Given the description of an element on the screen output the (x, y) to click on. 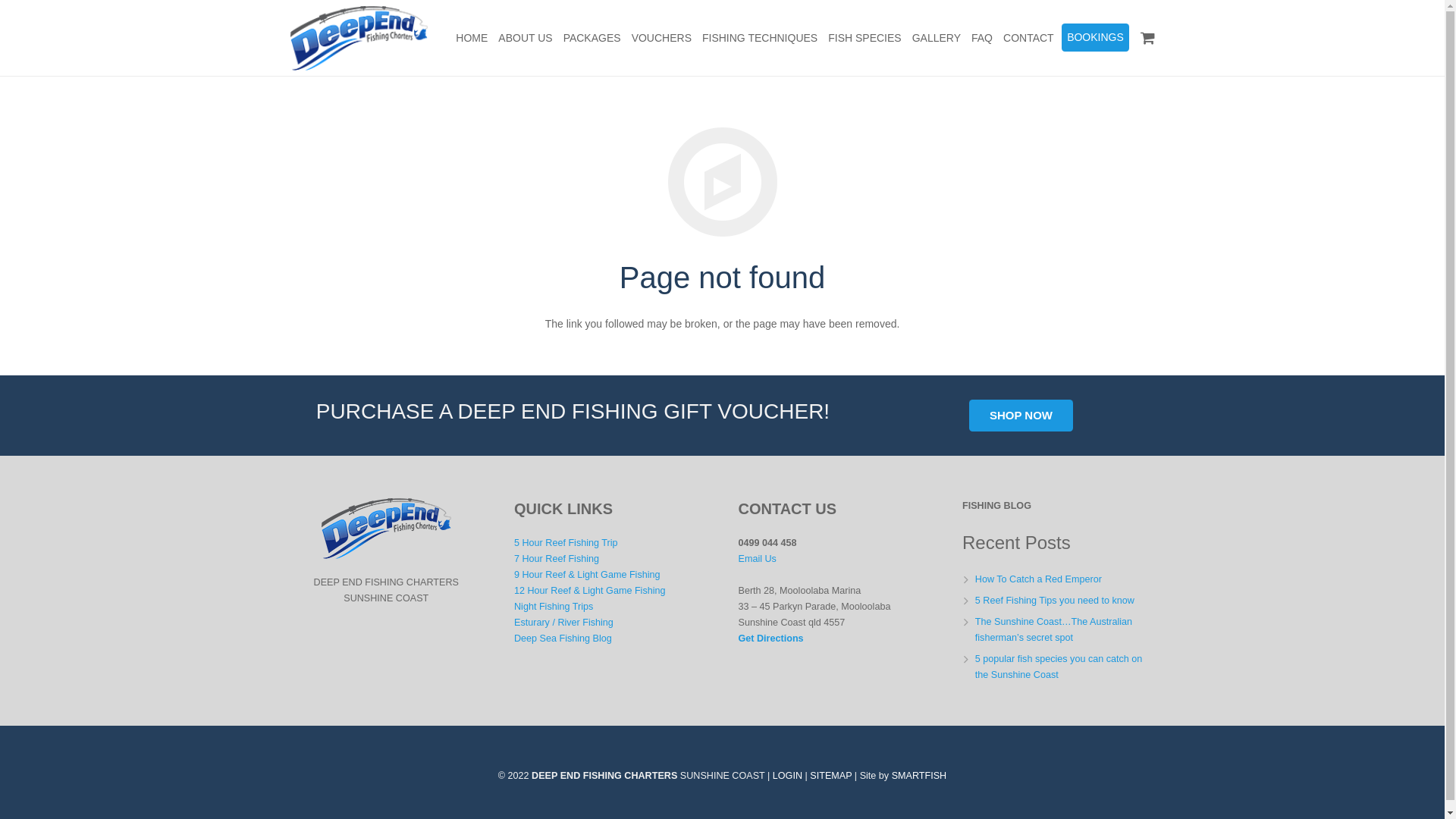
5 Reef Fishing Tips you need to know Element type: text (1054, 600)
LOGIN Element type: text (787, 775)
5 popular fish species you can catch on the Sunshine Coast Element type: text (1058, 666)
FAQ Element type: text (981, 37)
Night Fishing Trips Element type: text (553, 606)
HOME Element type: text (471, 37)
Deep Sea Fishing Blog Element type: text (562, 638)
SMARTFISH Element type: text (919, 775)
ABOUT US Element type: text (524, 37)
7 Hour Reef Fishing Element type: text (556, 558)
PACKAGES Element type: text (592, 37)
9 Hour Reef & Light Game Fishing Element type: text (587, 574)
5 Hour Reef Fishing Trip Element type: text (566, 542)
CONTACT Element type: text (1028, 37)
VOUCHERS Element type: text (661, 37)
FISH SPECIES Element type: text (864, 37)
FISHING TECHNIQUES Element type: text (759, 37)
Esturary / River Fishing Element type: text (563, 622)
12 Hour Reef & Light Game Fishing Element type: text (589, 590)
Get Directions Element type: text (770, 638)
How To Catch a Red Emperor Element type: text (1038, 579)
GALLERY Element type: text (936, 37)
SITEMAP Element type: text (830, 775)
BOOKINGS Element type: text (1095, 36)
Email Us Element type: text (757, 558)
SHOP NOW Element type: text (1021, 415)
